Given the description of an element on the screen output the (x, y) to click on. 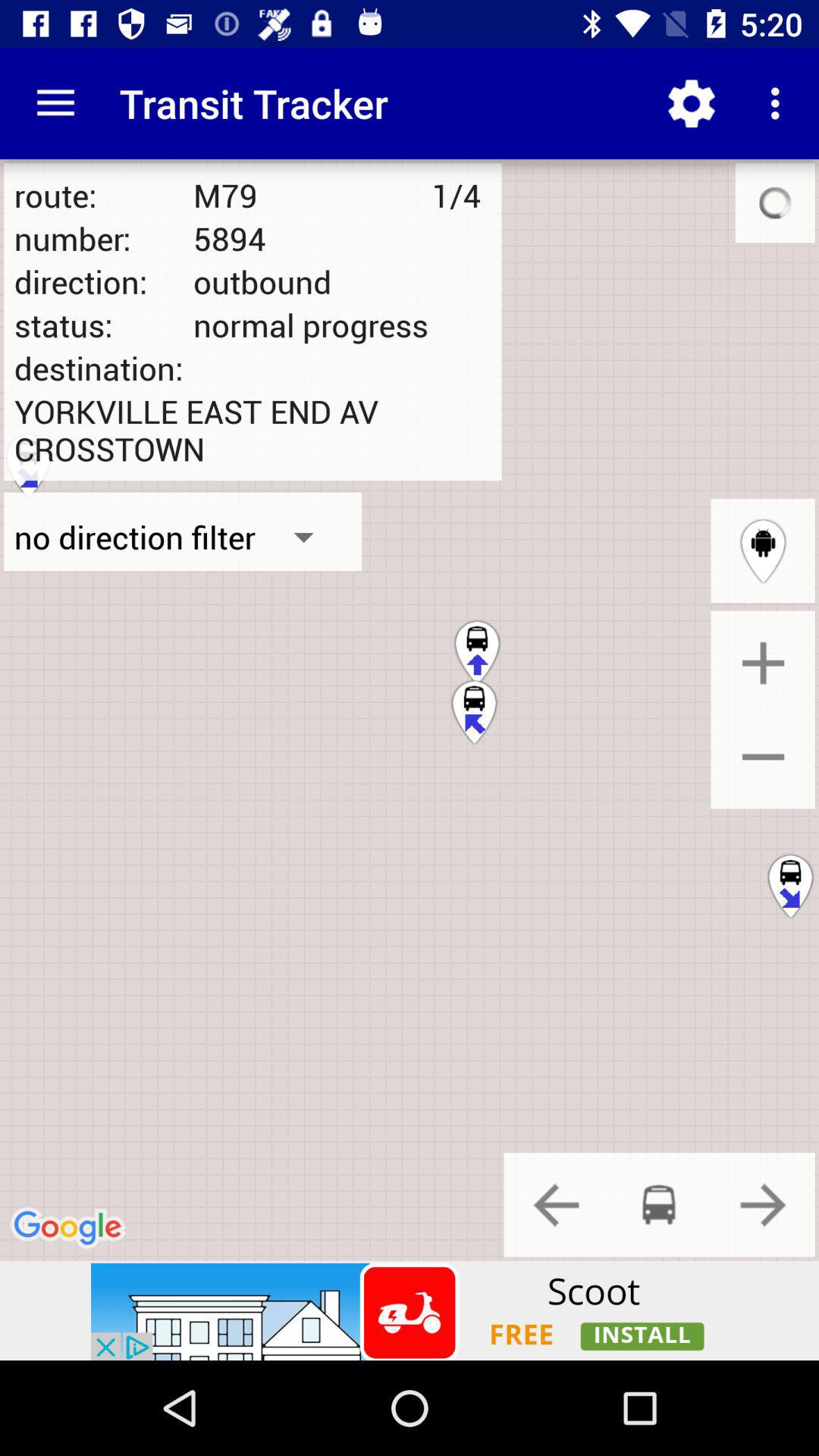
advertisement (409, 1310)
